Given the description of an element on the screen output the (x, y) to click on. 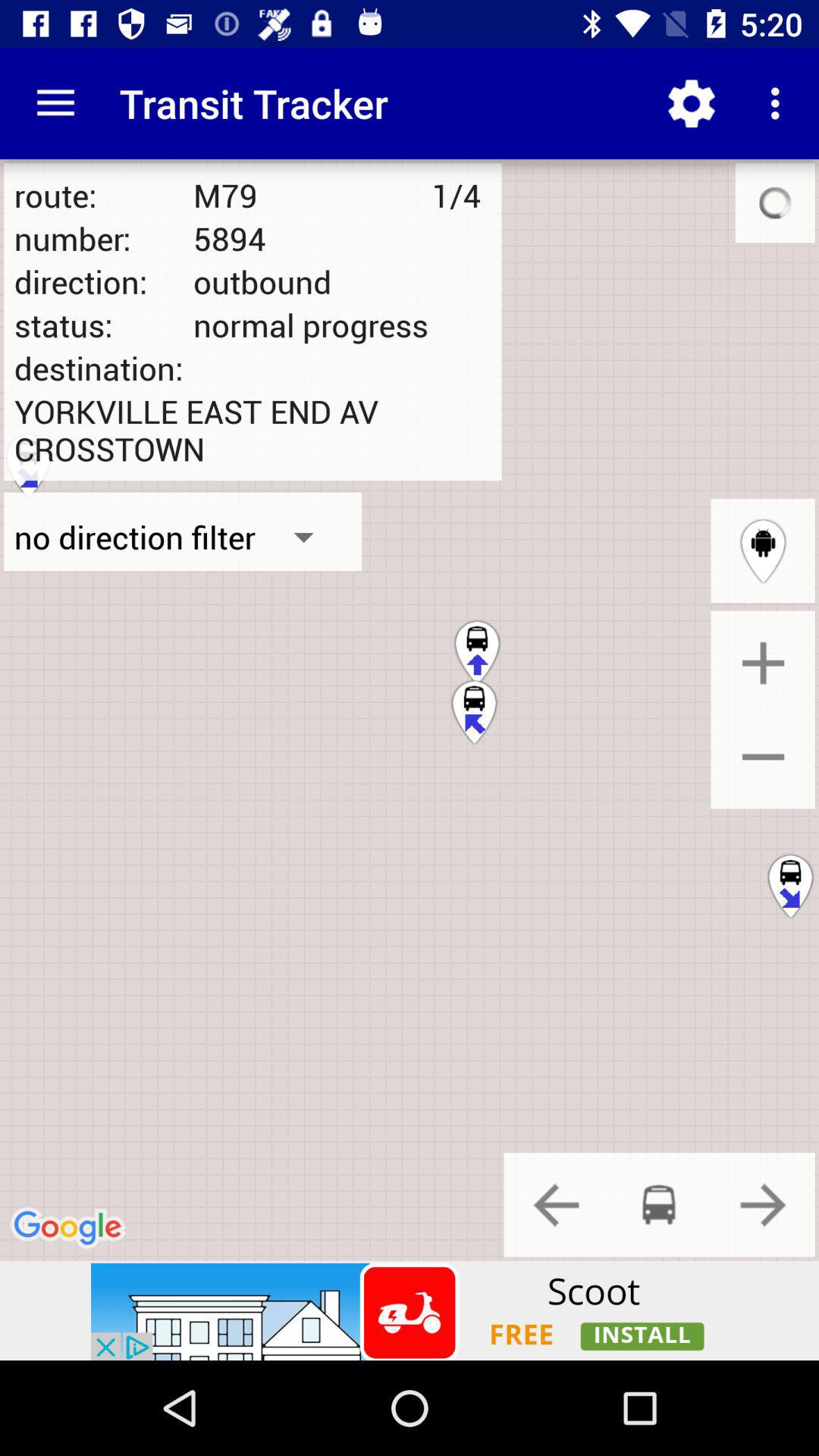
advertisement (409, 1310)
